Given the description of an element on the screen output the (x, y) to click on. 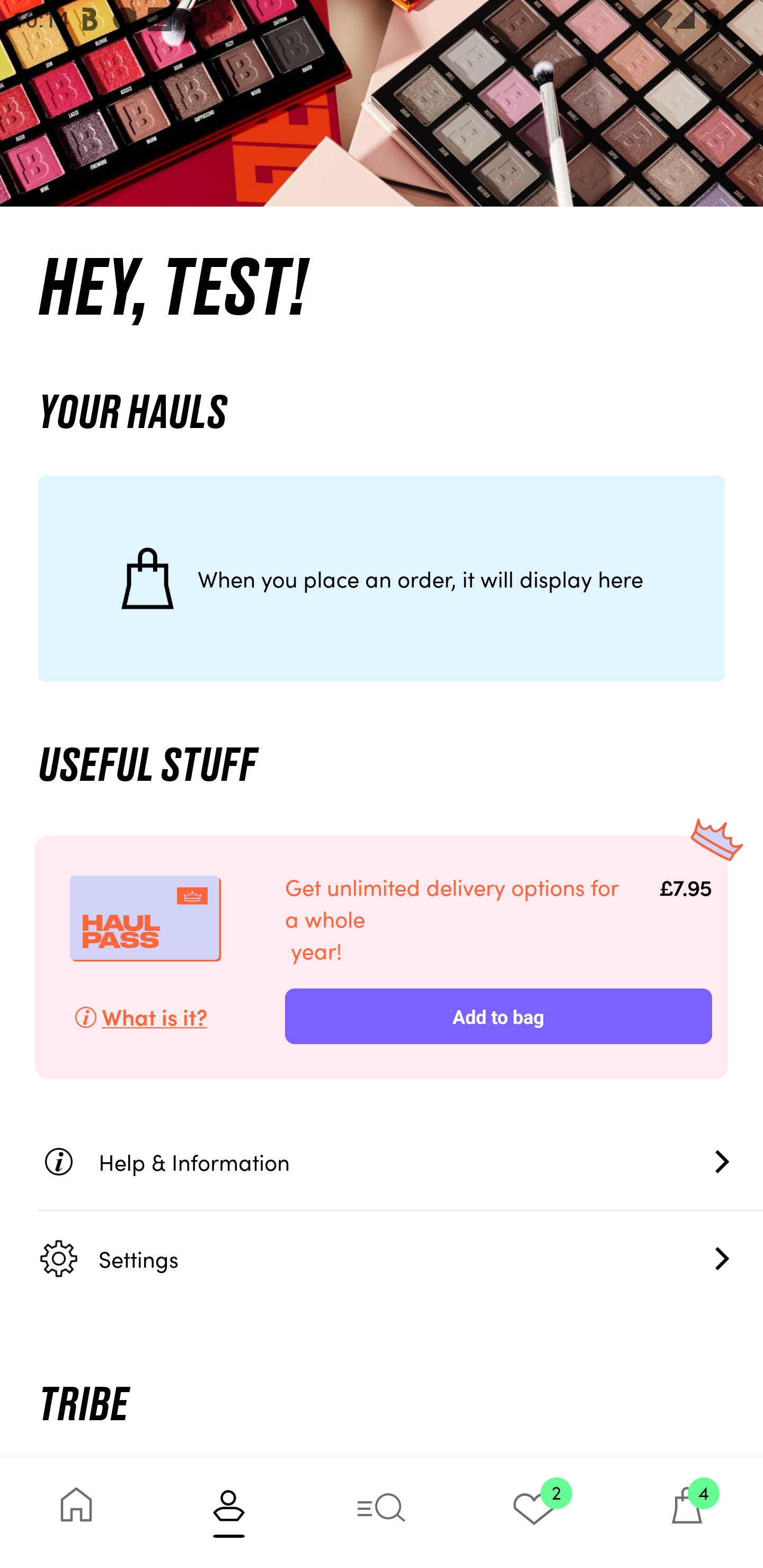
What is it? (161, 1015)
Add to bag (498, 1015)
Help & Information (400, 1160)
Settings (400, 1258)
2 (533, 1512)
4 (686, 1512)
